Given the description of an element on the screen output the (x, y) to click on. 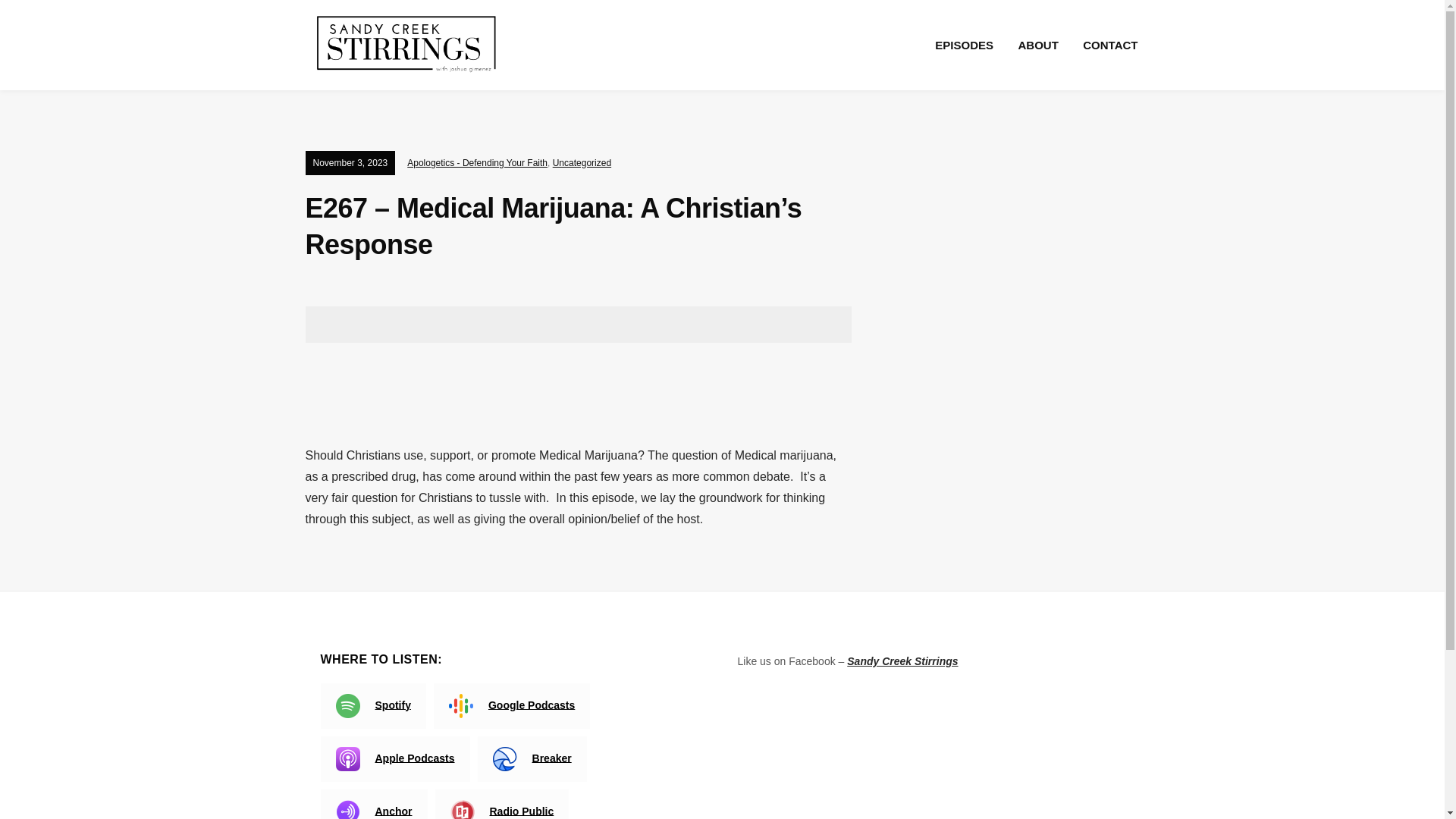
Breaker (531, 759)
Anchor (373, 804)
EPISODES (963, 44)
Sandy Creek Stirrings (902, 661)
Apple Podcasts (394, 759)
ABOUT (1037, 44)
Uncategorized (582, 163)
CONTACT (1109, 44)
Spotify (372, 705)
Google Podcasts (511, 705)
